Given the description of an element on the screen output the (x, y) to click on. 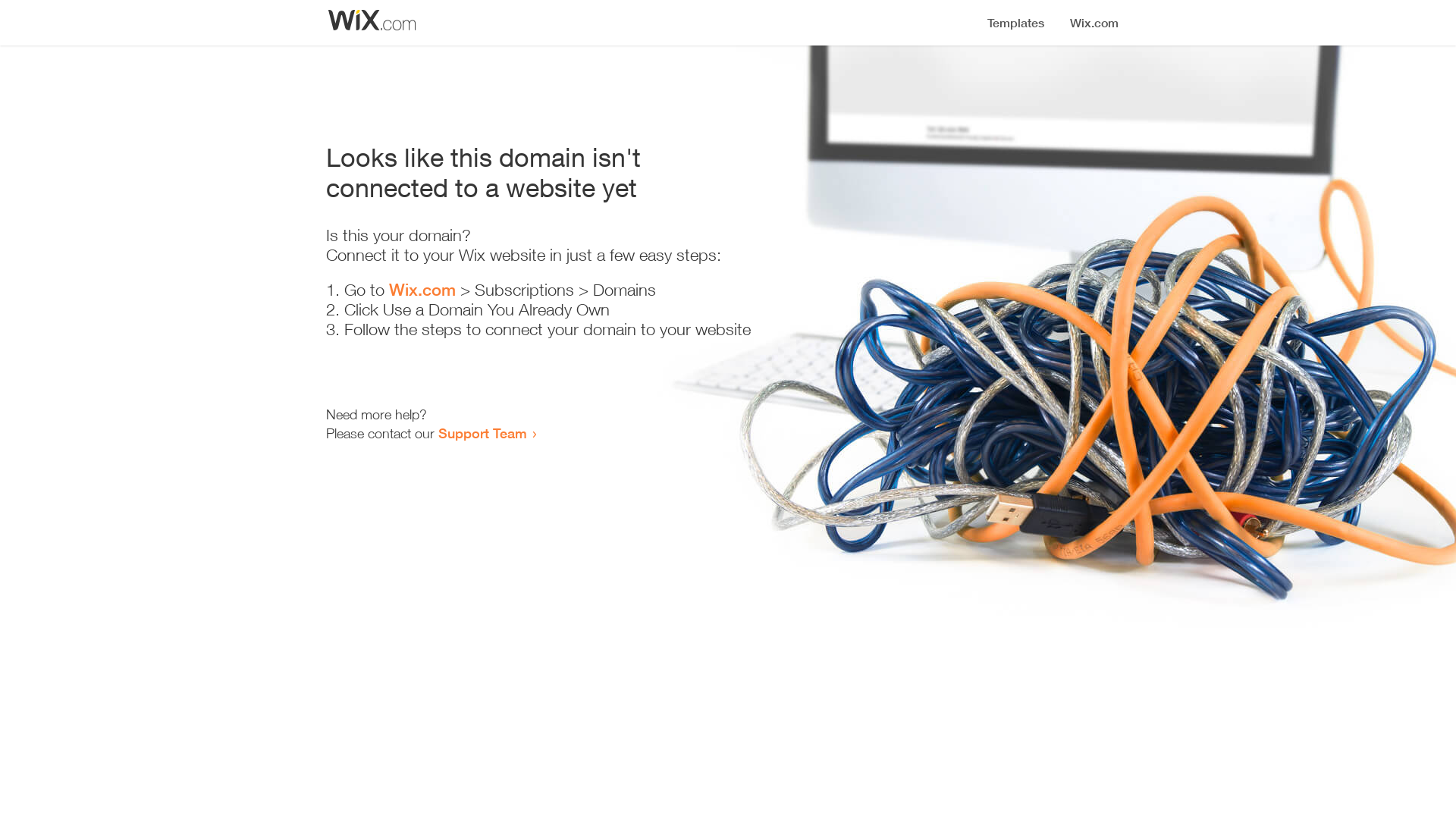
Wix.com Element type: text (422, 289)
Support Team Element type: text (482, 432)
